Given the description of an element on the screen output the (x, y) to click on. 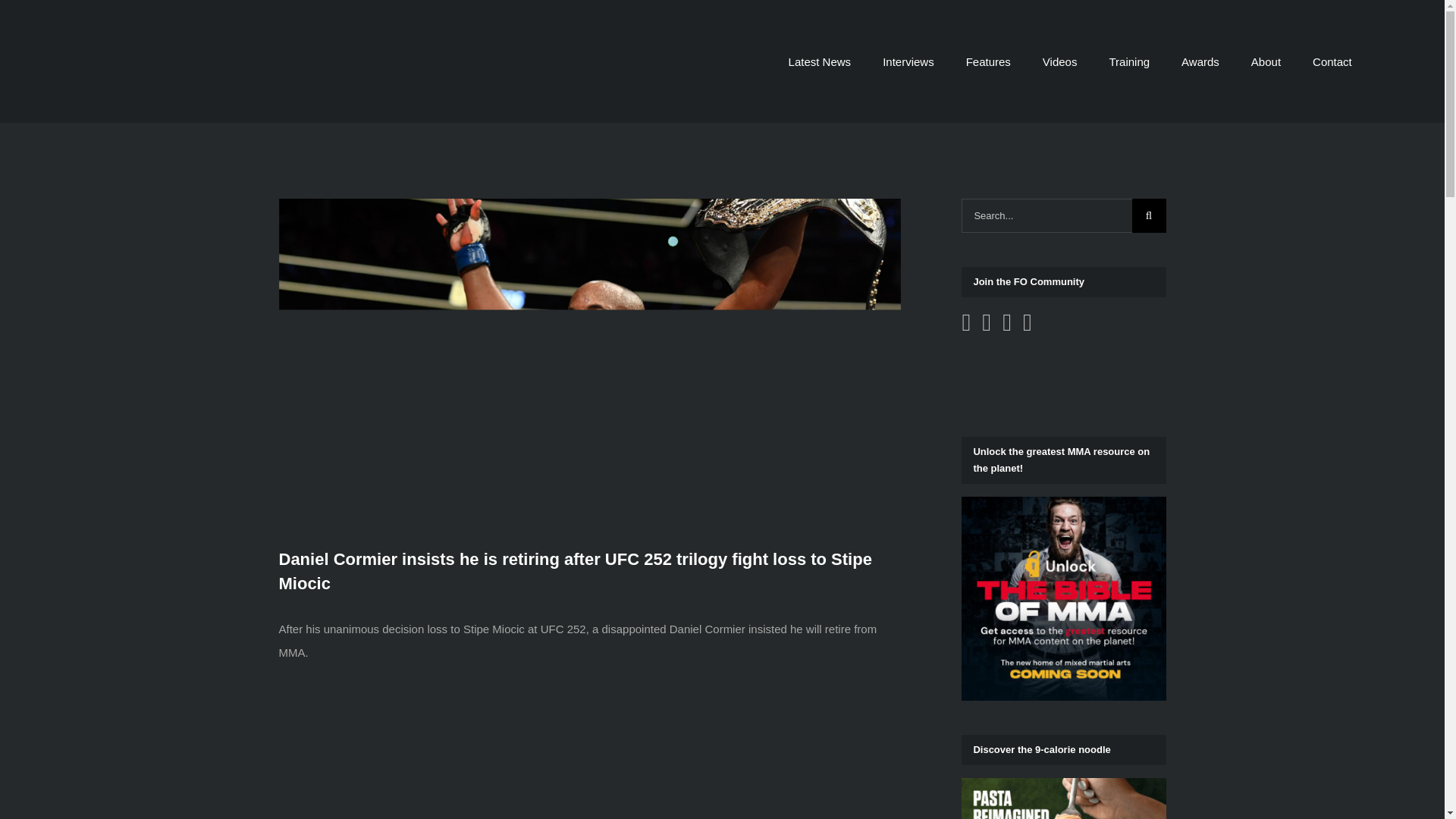
Latest News (820, 61)
Interviews (908, 61)
UFC 252: Daniel Cormier Retires (722, 749)
